Given the description of an element on the screen output the (x, y) to click on. 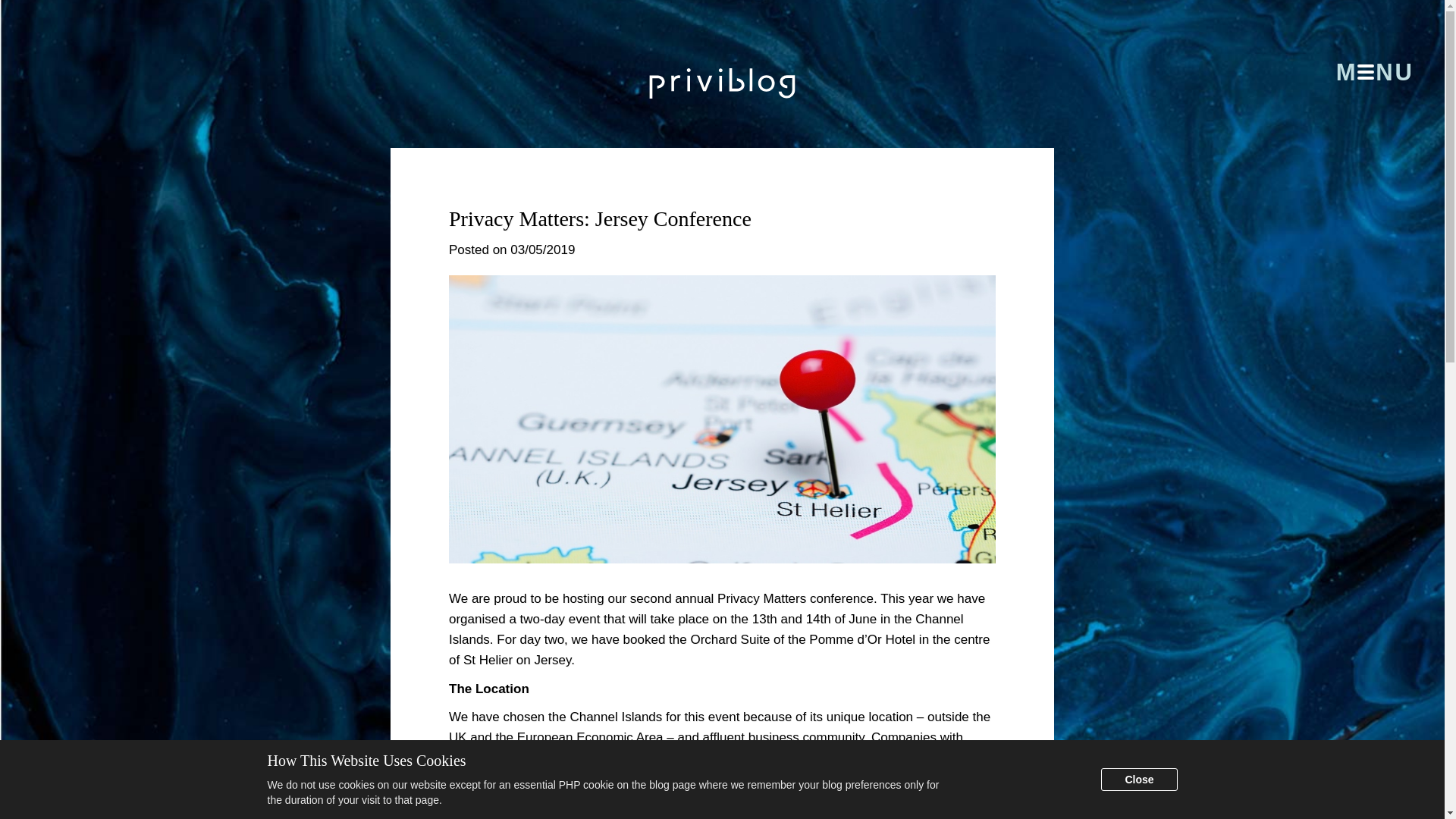
Close (1138, 779)
Menu (1359, 70)
MENU (1359, 70)
Close (1138, 779)
Book Tickets (904, 806)
